Given the description of an element on the screen output the (x, y) to click on. 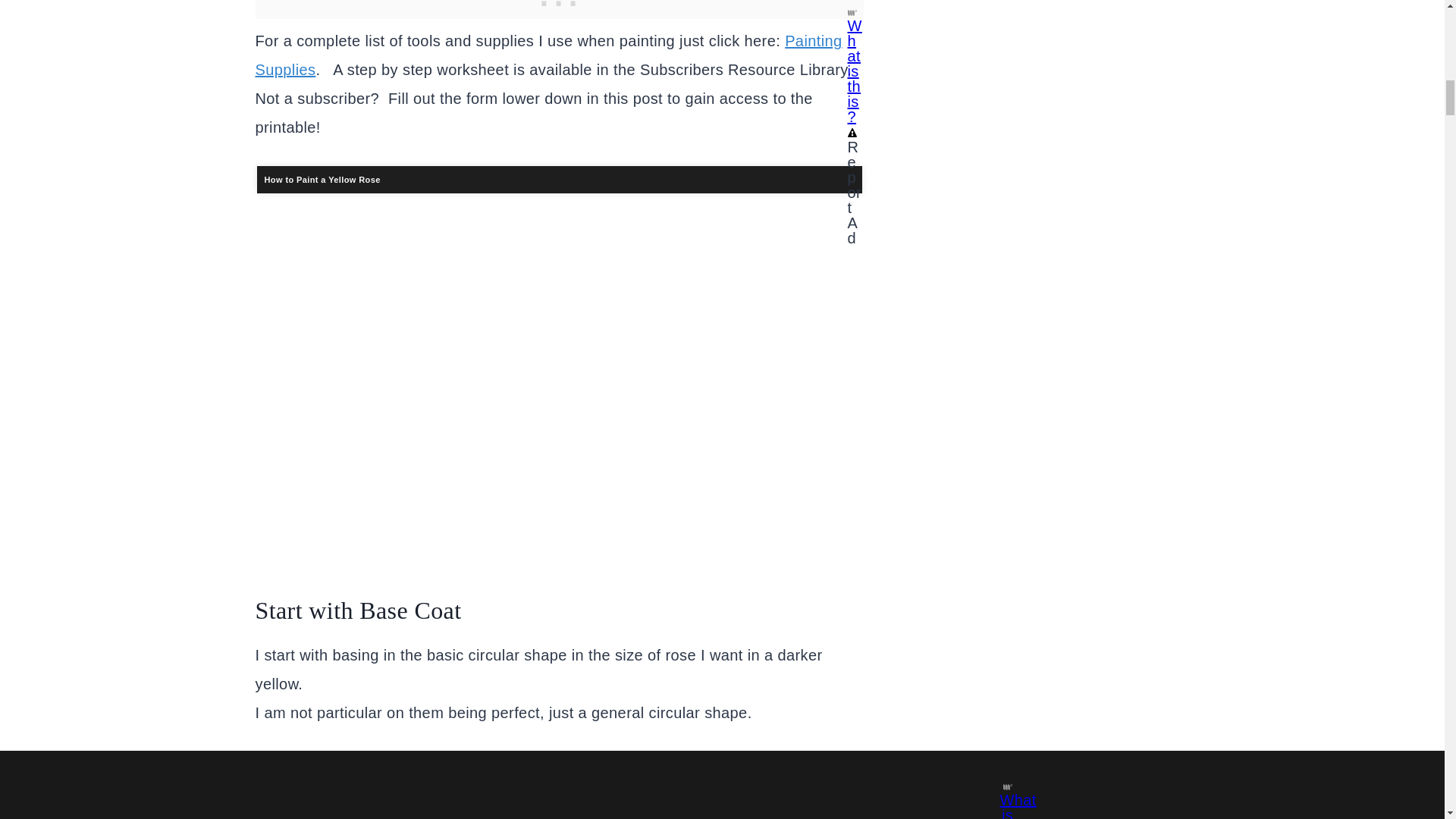
Painting Supplies (547, 54)
3rd party ad content (558, 785)
